Given the description of an element on the screen output the (x, y) to click on. 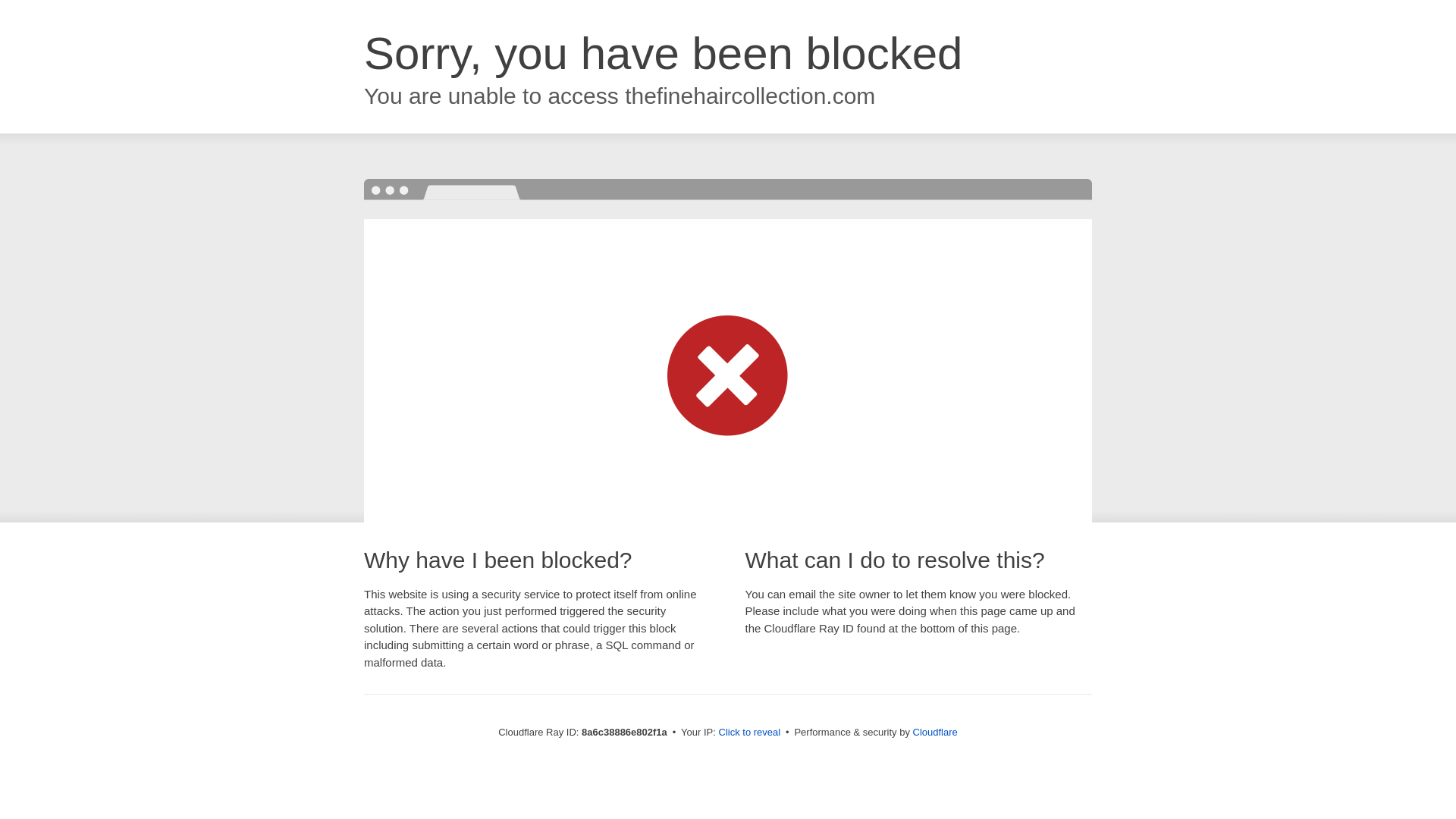
Cloudflare (935, 731)
Click to reveal (749, 732)
